Given the description of an element on the screen output the (x, y) to click on. 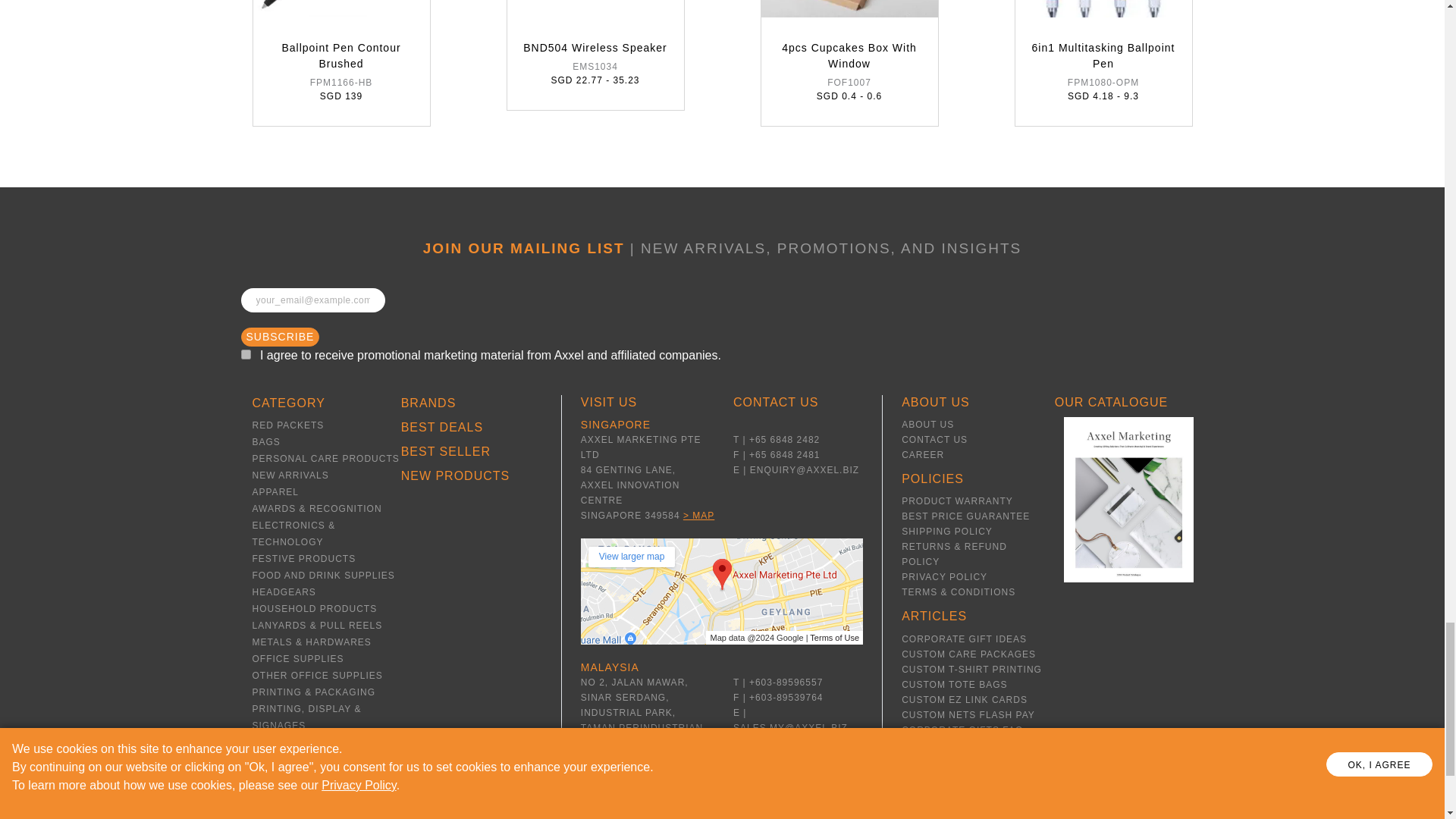
1 (245, 354)
Subscribe (280, 336)
View Larger Map (631, 556)
